Given the description of an element on the screen output the (x, y) to click on. 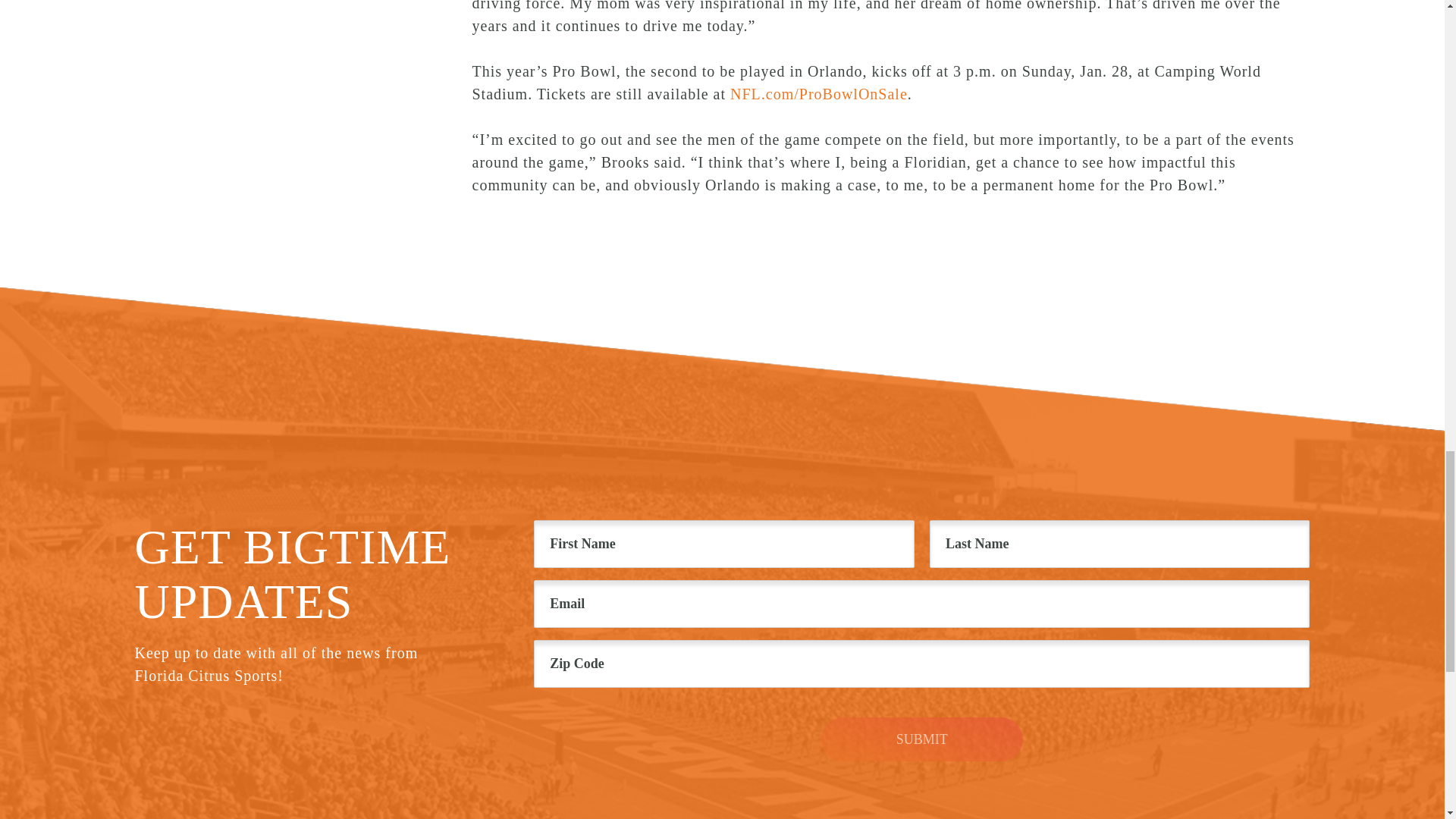
Submit (922, 739)
